Given the description of an element on the screen output the (x, y) to click on. 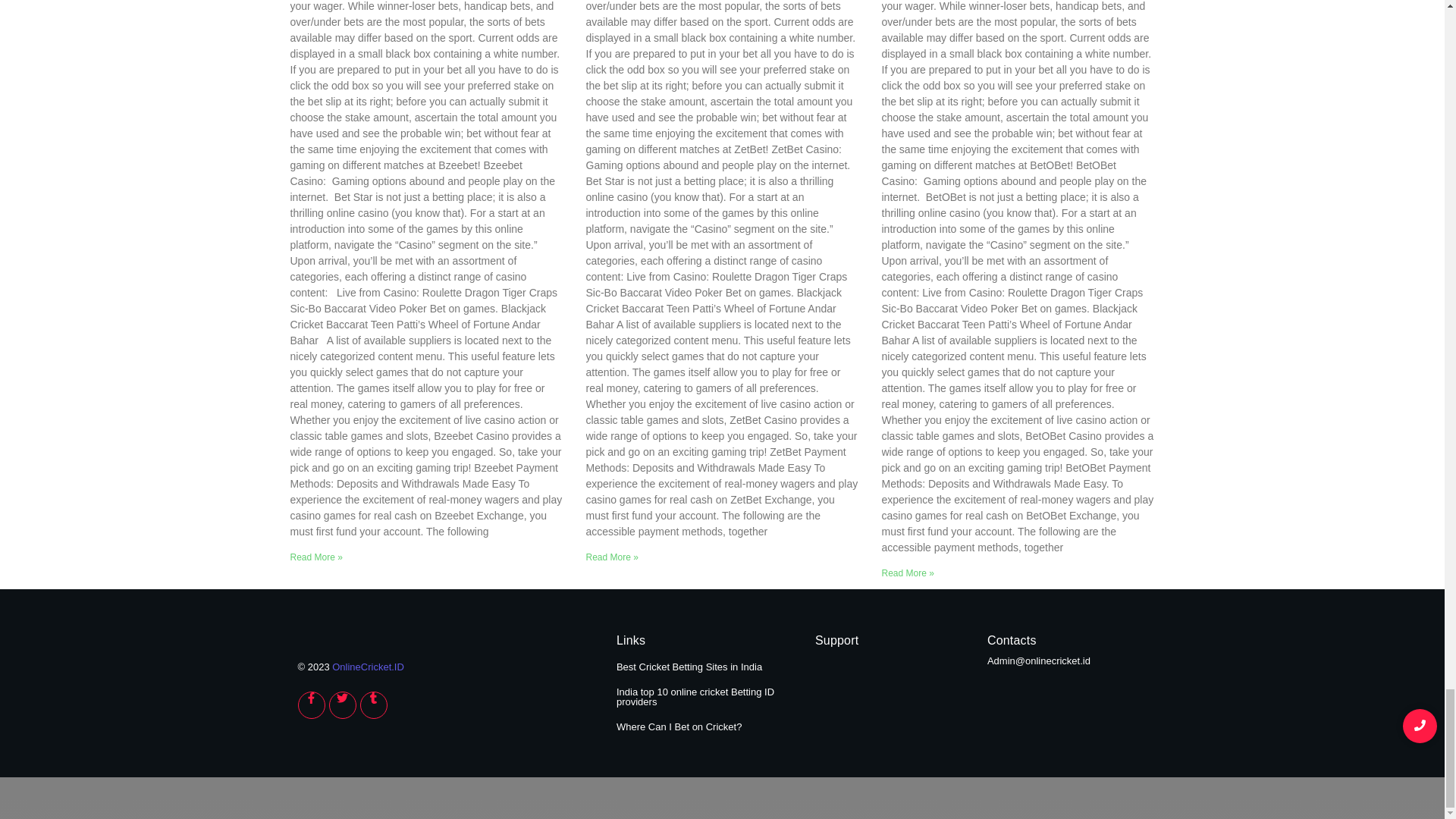
Best Cricket Betting Sites in India (688, 666)
OnlineCricket.ID (367, 666)
India top 10 online cricket Betting ID providers (694, 696)
Where Can I Bet on Cricket? (678, 726)
